Given the description of an element on the screen output the (x, y) to click on. 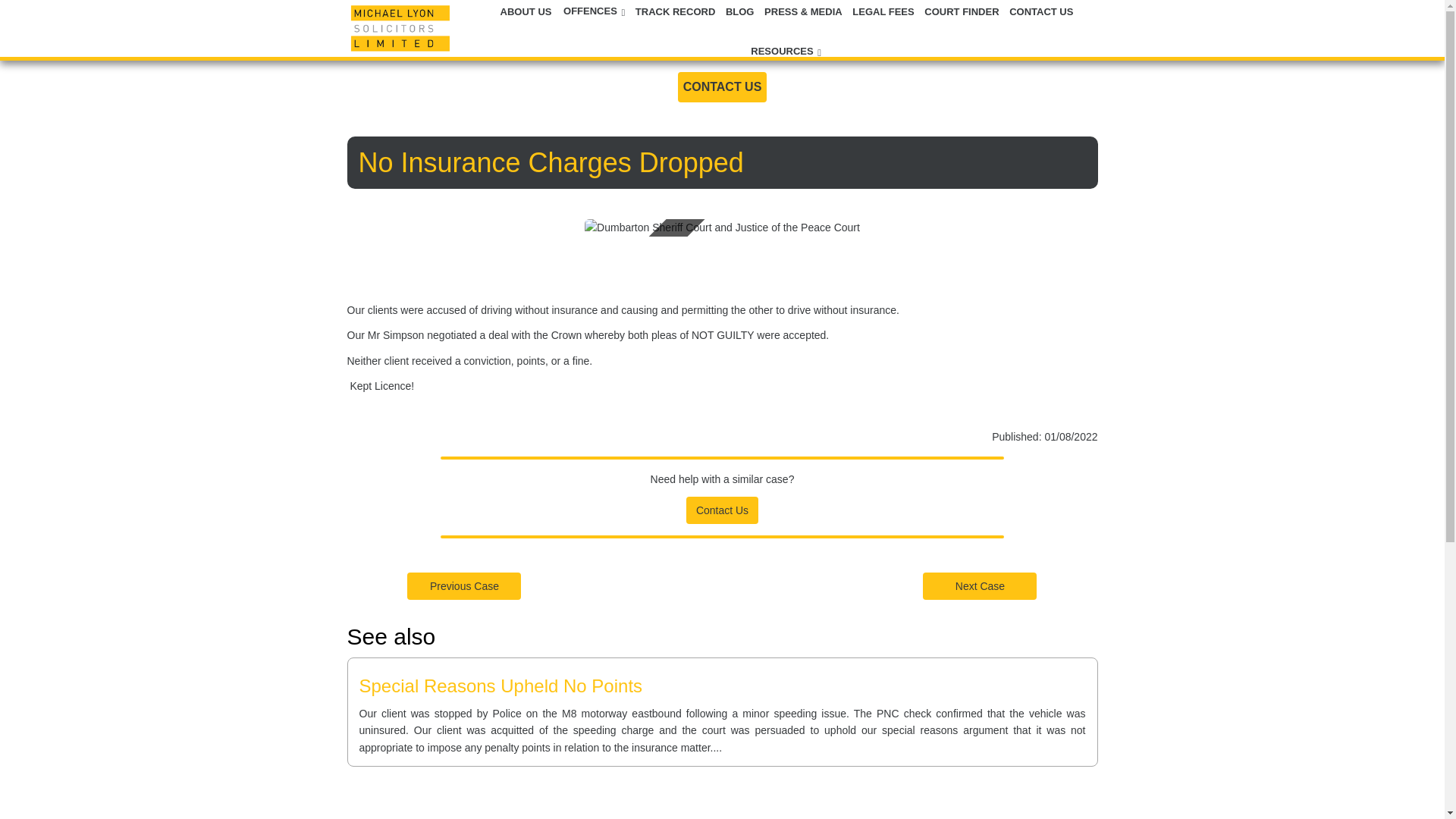
BLOG (741, 10)
CONTACT US (1041, 10)
RESOURCES (785, 51)
Special Reasons Upheld No Points (501, 685)
COURT FINDER (963, 10)
ABOUT US (527, 10)
LEGAL FEES (884, 10)
Previous Case (464, 585)
Contact Us (721, 509)
Previous Case (464, 585)
